Given the description of an element on the screen output the (x, y) to click on. 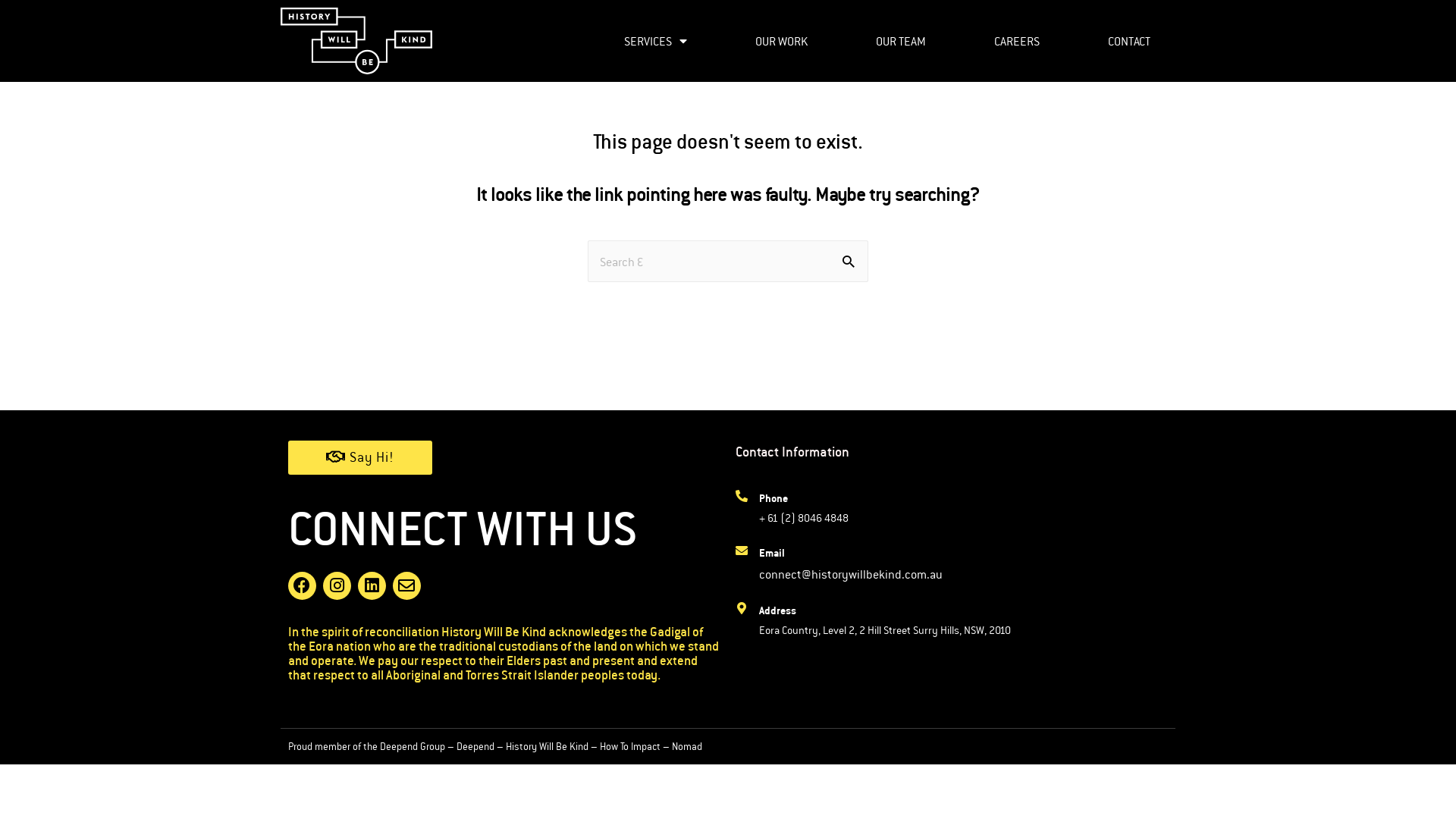
Nomad Element type: text (686, 746)
Phone Element type: text (773, 497)
Email Element type: text (771, 552)
Search Element type: text (851, 262)
OUR WORK Element type: text (780, 40)
Deepend Element type: text (475, 746)
CAREERS Element type: text (1016, 40)
CONTACT Element type: text (1129, 40)
Say Hi! Element type: text (360, 457)
How To Impact Element type: text (629, 746)
SERVICES Element type: text (655, 40)
Deepend Group Element type: text (412, 746)
OUR TEAM Element type: text (900, 40)
